Given the description of an element on the screen output the (x, y) to click on. 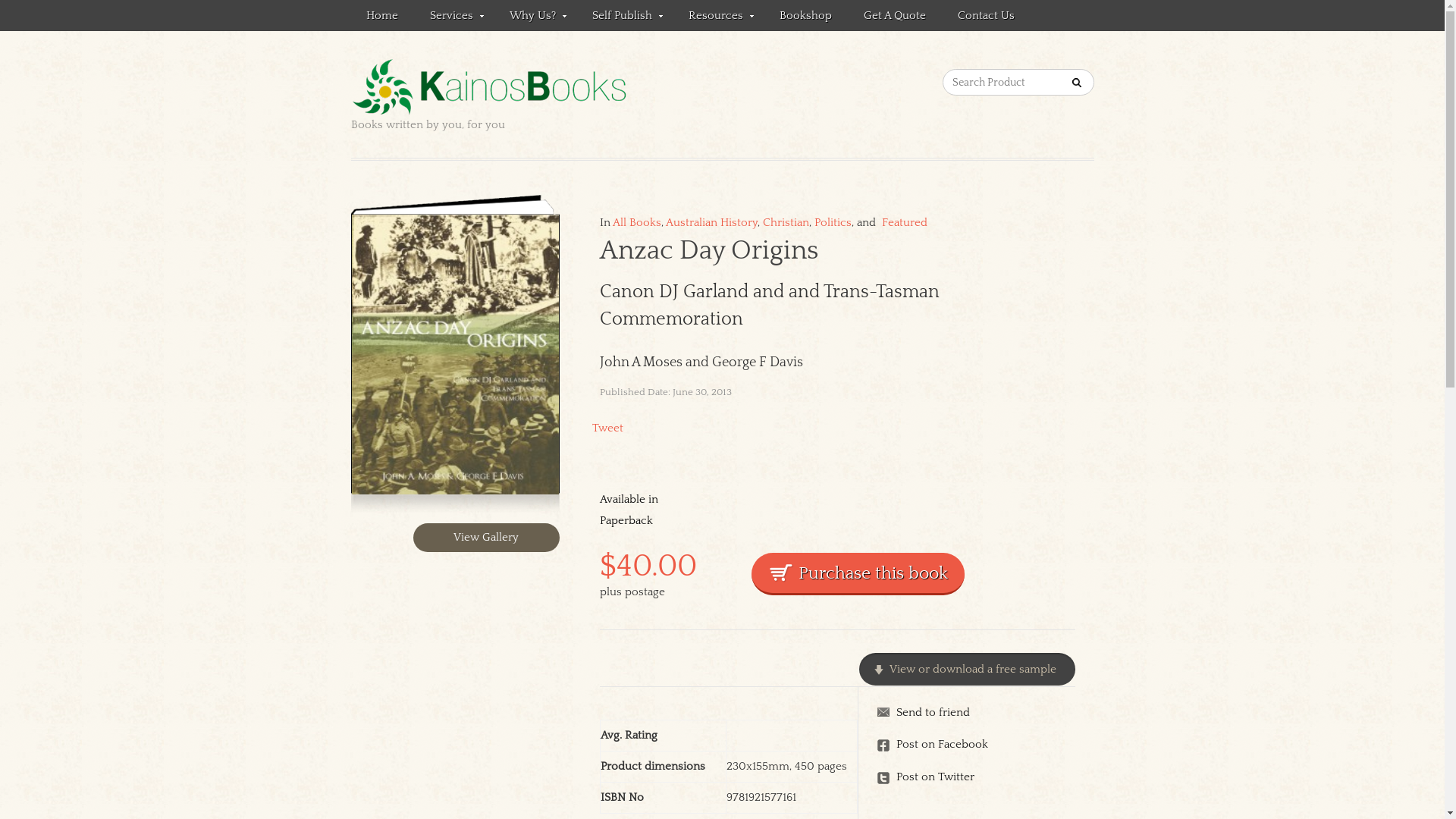
All Books Element type: text (636, 222)
Post on Twitter Element type: text (974, 777)
Send to friend Element type: text (974, 712)
Post on Facebook Element type: text (974, 744)
Tweet Element type: text (606, 427)
Kainos Books Element type: hover (541, 87)
Purchase this book Element type: text (856, 573)
Politics Element type: text (832, 222)
 Featured Element type: text (902, 222)
Christian Element type: text (785, 222)
Get A Quote Element type: text (893, 15)
View Gallery Element type: text (486, 537)
Home Element type: text (381, 15)
Contact Us Element type: text (985, 15)
Bookshop Element type: text (805, 15)
View or download a free sample Element type: text (967, 668)
Australian History Element type: text (711, 222)
